Given the description of an element on the screen output the (x, y) to click on. 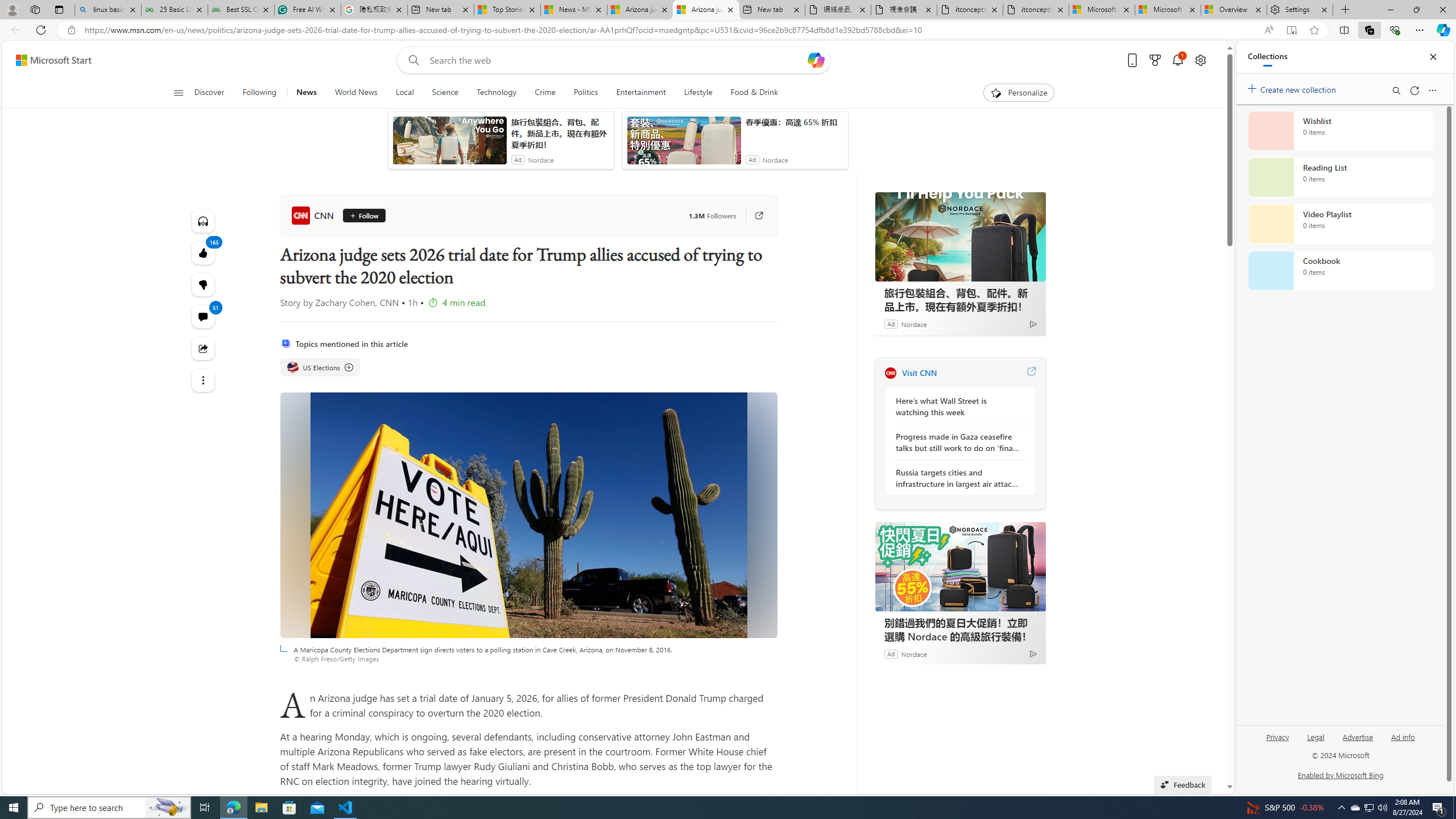
Cookbook collection, 0 items (1339, 270)
Ad info (1402, 741)
Food & Drink (753, 92)
World News (355, 92)
Crime (545, 92)
25 Basic Linux Commands For Beginners - GeeksforGeeks (174, 9)
More options menu (1432, 90)
Lifestyle (698, 92)
Food & Drink (748, 92)
Feedback (1182, 784)
